Given the description of an element on the screen output the (x, y) to click on. 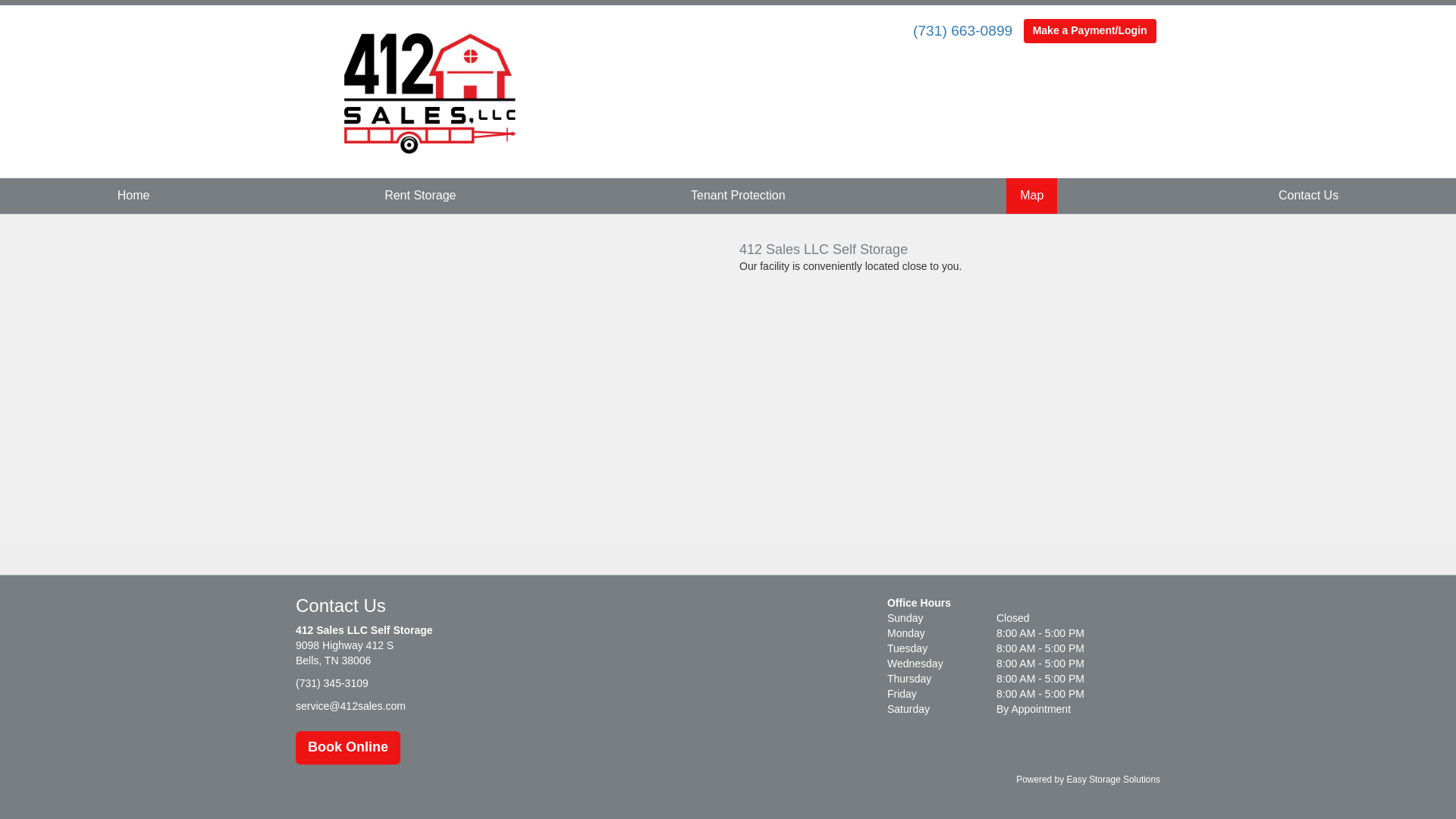
(731) 345-3109 Element type: text (331, 683)
Make a Payment/Login Element type: text (1089, 30)
Map Element type: text (1031, 195)
Easy Storage Solutions Element type: text (1113, 779)
service@412sales.com Element type: text (350, 705)
Rent Storage Element type: text (419, 195)
Contact Us Element type: text (1308, 195)
Home Element type: text (133, 195)
Tenant Protection Element type: text (738, 195)
(731) 663-0899 Element type: text (962, 30)
Book Online Element type: text (347, 747)
